Given the description of an element on the screen output the (x, y) to click on. 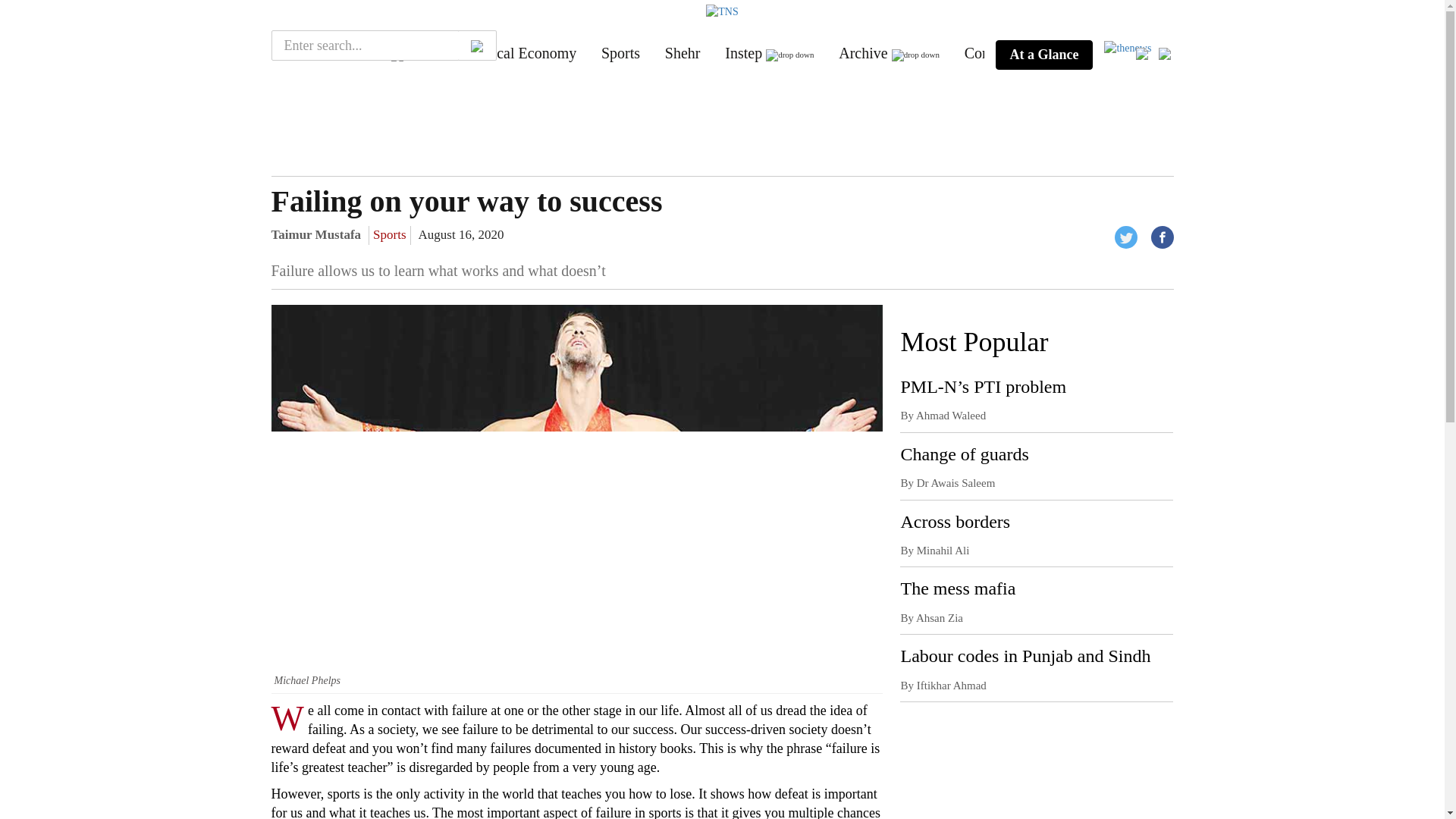
Instep (743, 53)
Shehr (682, 53)
Sports (620, 53)
Change of guards (963, 454)
Sports (620, 53)
TNS (300, 53)
By Ahmad Waleed (942, 415)
Home (300, 53)
Encore (365, 53)
Contributors (1002, 53)
Taimur Mustafa (315, 234)
Political-Economy (520, 53)
Political Economy (520, 53)
Archive (862, 53)
Instep (743, 53)
